Given the description of an element on the screen output the (x, y) to click on. 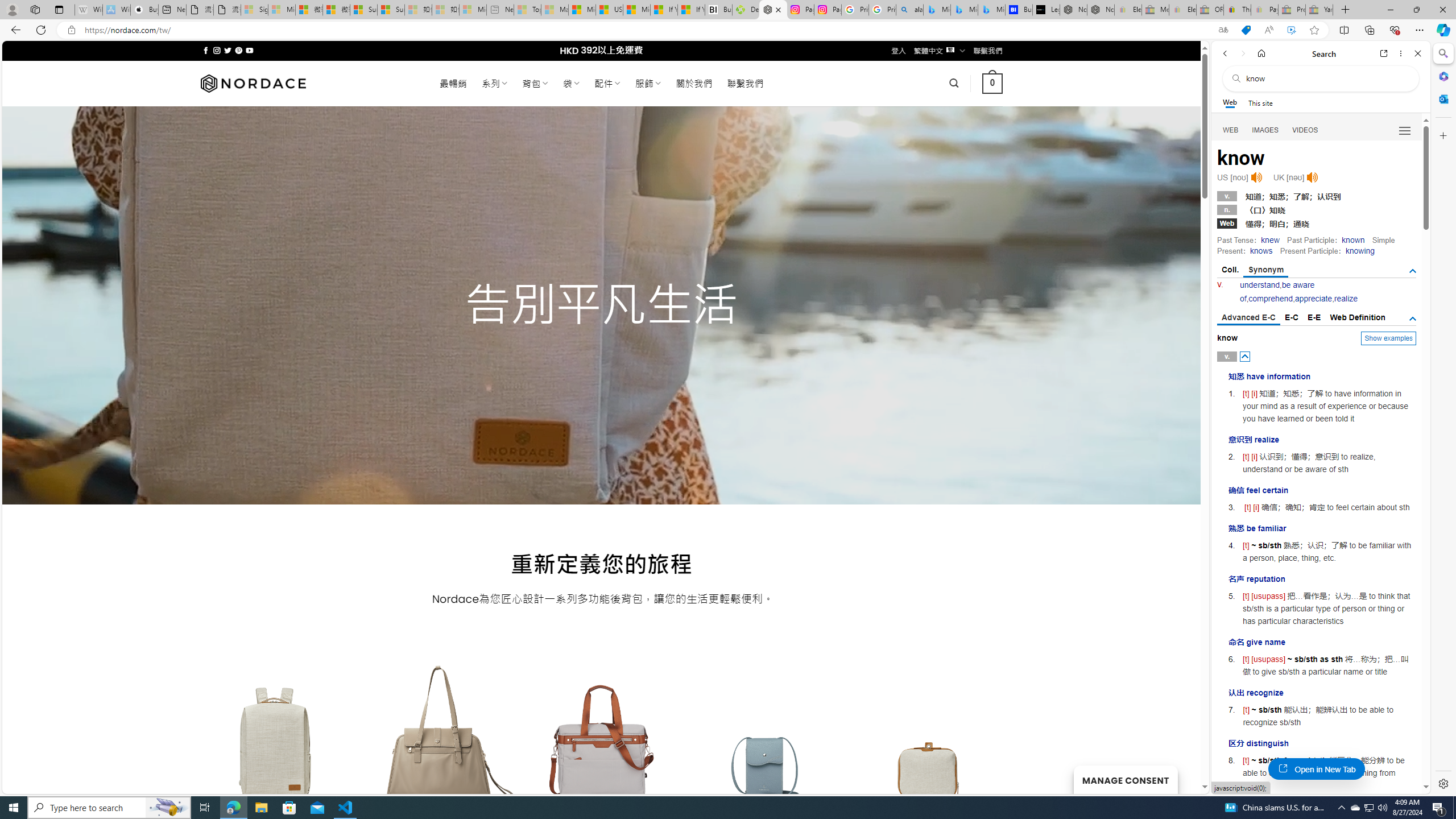
appreciate (1313, 298)
